Given the description of an element on the screen output the (x, y) to click on. 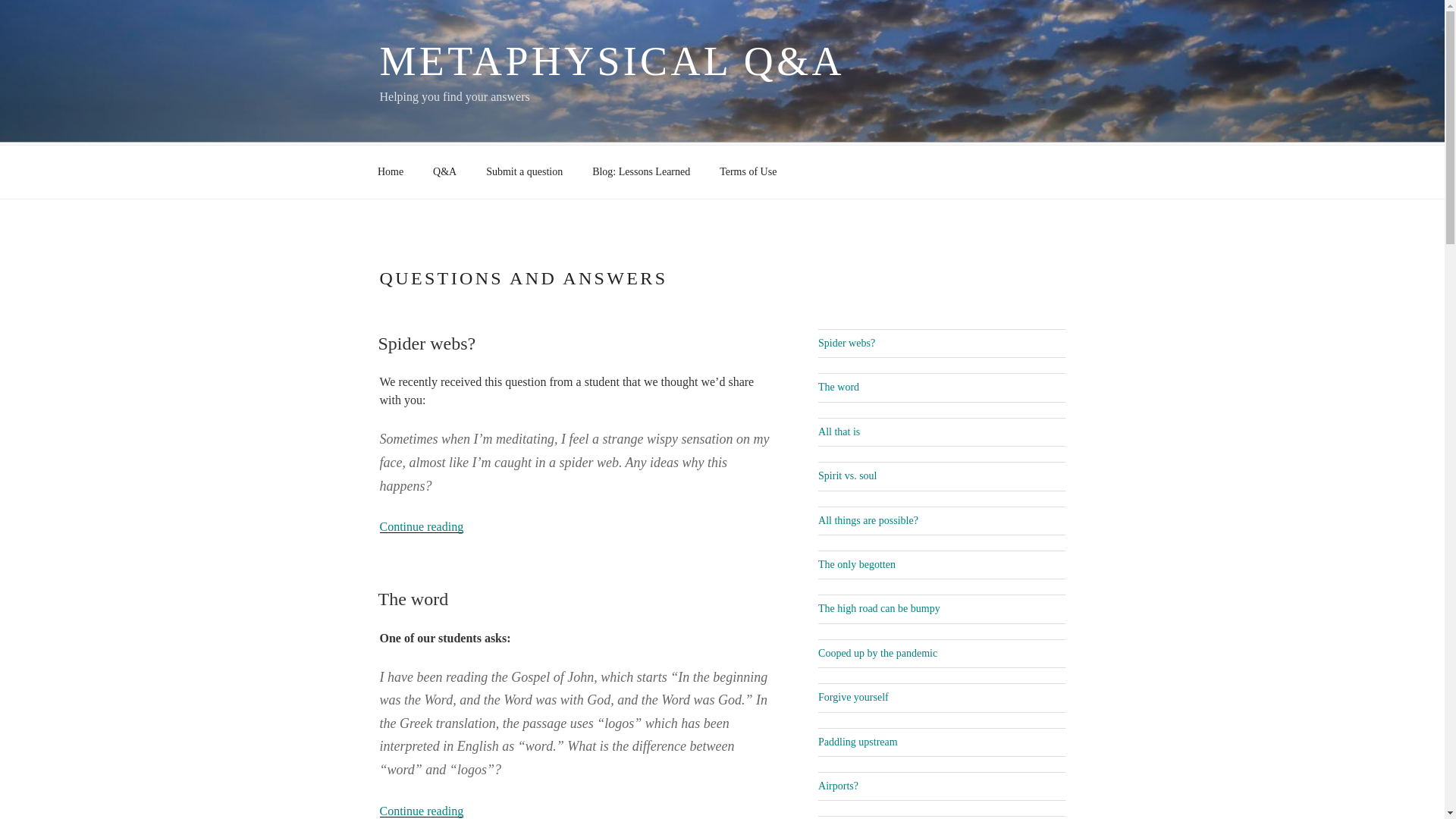
Cooped up by the pandemic (877, 653)
The high road can be bumpy (879, 608)
Spider webs? (426, 342)
Submit a question (524, 171)
All things are possible? (868, 520)
The word (412, 598)
All that is (839, 431)
Spider webs? (846, 342)
Blog: Lessons Learned (641, 171)
The word (838, 387)
Home (390, 171)
Spirit vs. soul (847, 475)
The only begotten (856, 564)
Terms of Use (748, 171)
